Given the description of an element on the screen output the (x, y) to click on. 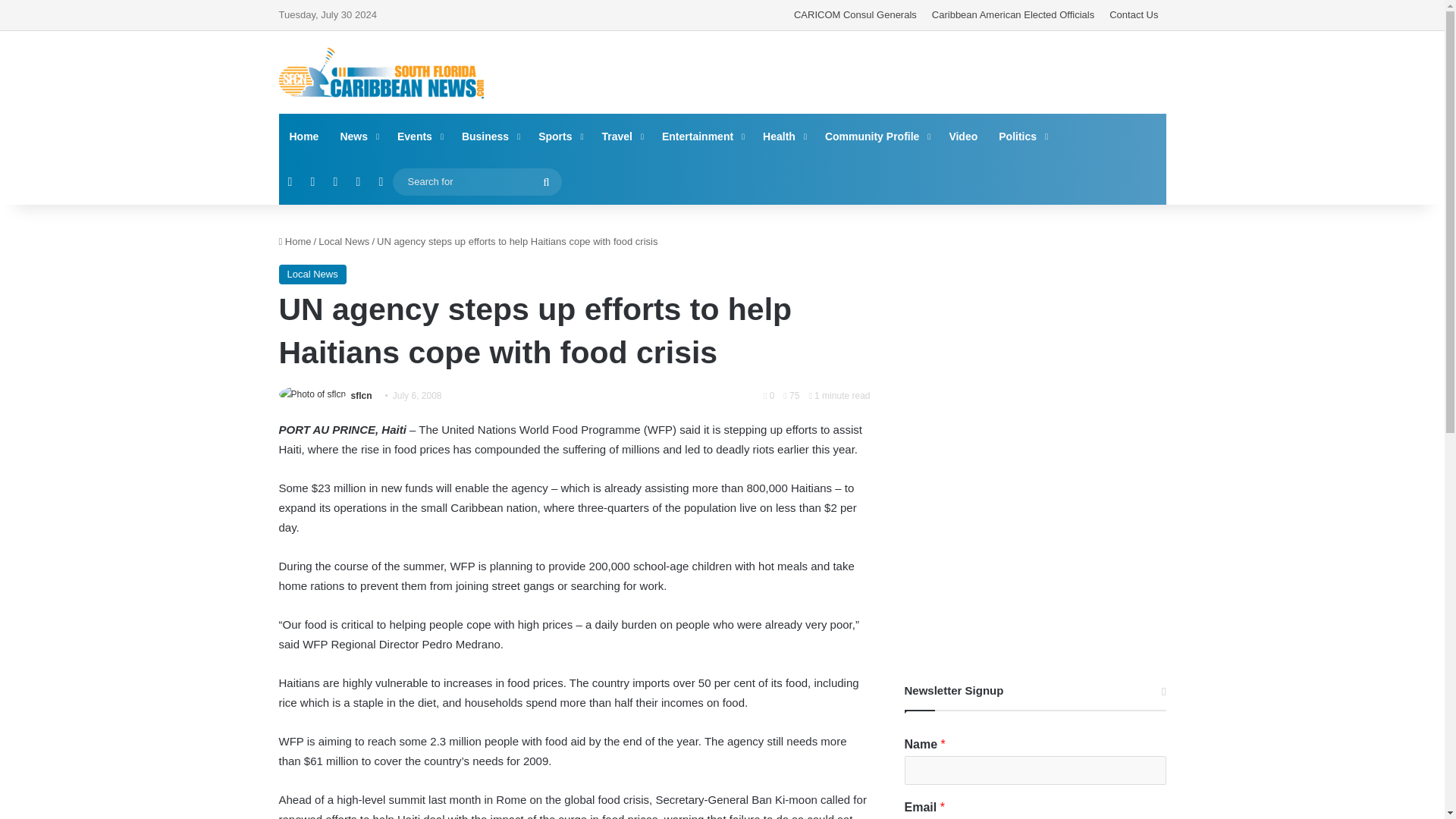
sflcn (361, 395)
South Florida Caribbean News (381, 72)
Health (782, 135)
sflcn (361, 395)
Local News (343, 241)
Search for (477, 181)
CARICOM Consul Generals (855, 15)
3rd party ad content (1034, 549)
Caribbean American Elected Officials (1013, 15)
Local News (312, 274)
Events (419, 135)
Search for (545, 181)
Travel (620, 135)
Sports (559, 135)
3rd party ad content (1034, 321)
